Given the description of an element on the screen output the (x, y) to click on. 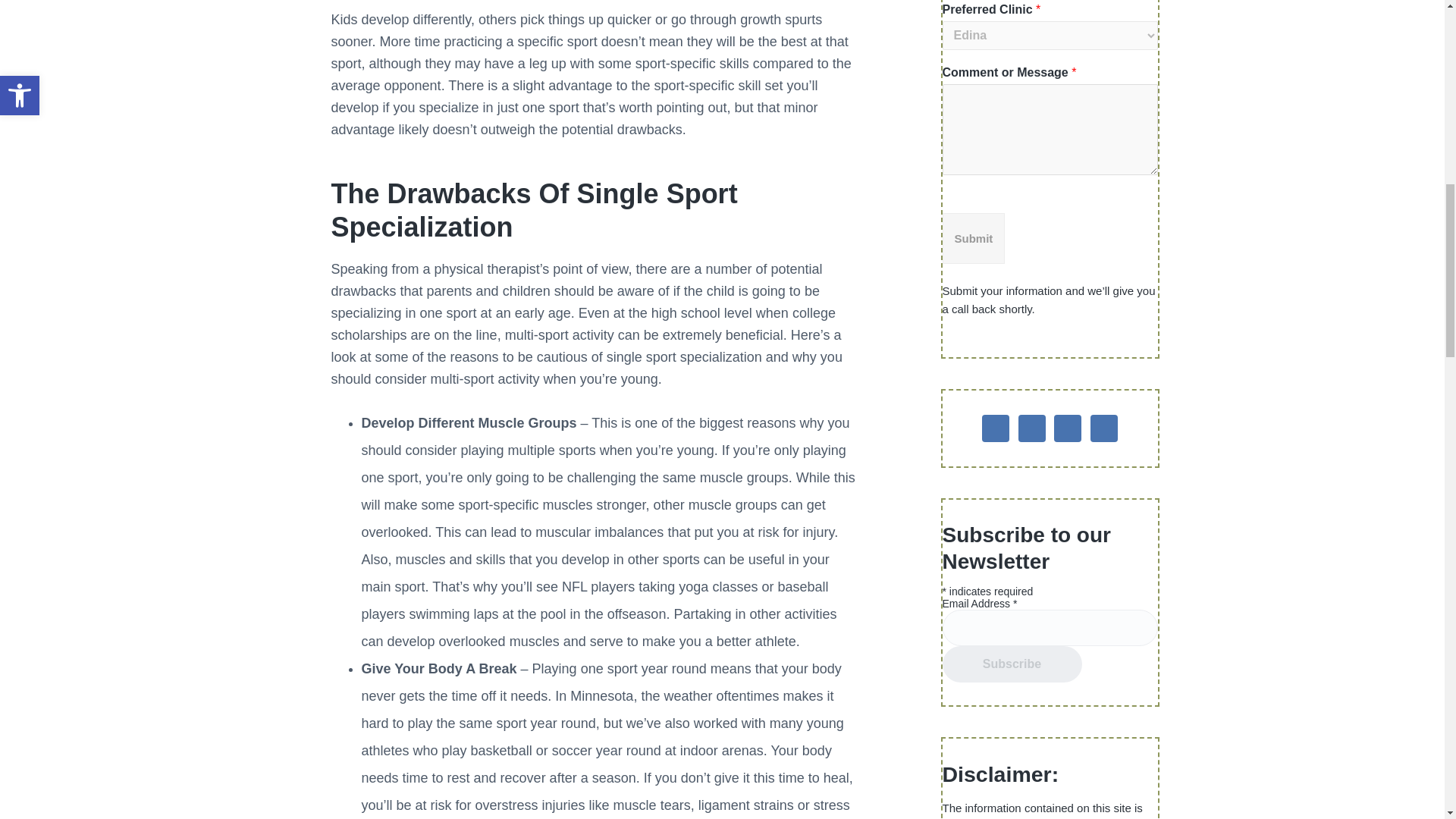
Subscribe (1011, 664)
